Given the description of an element on the screen output the (x, y) to click on. 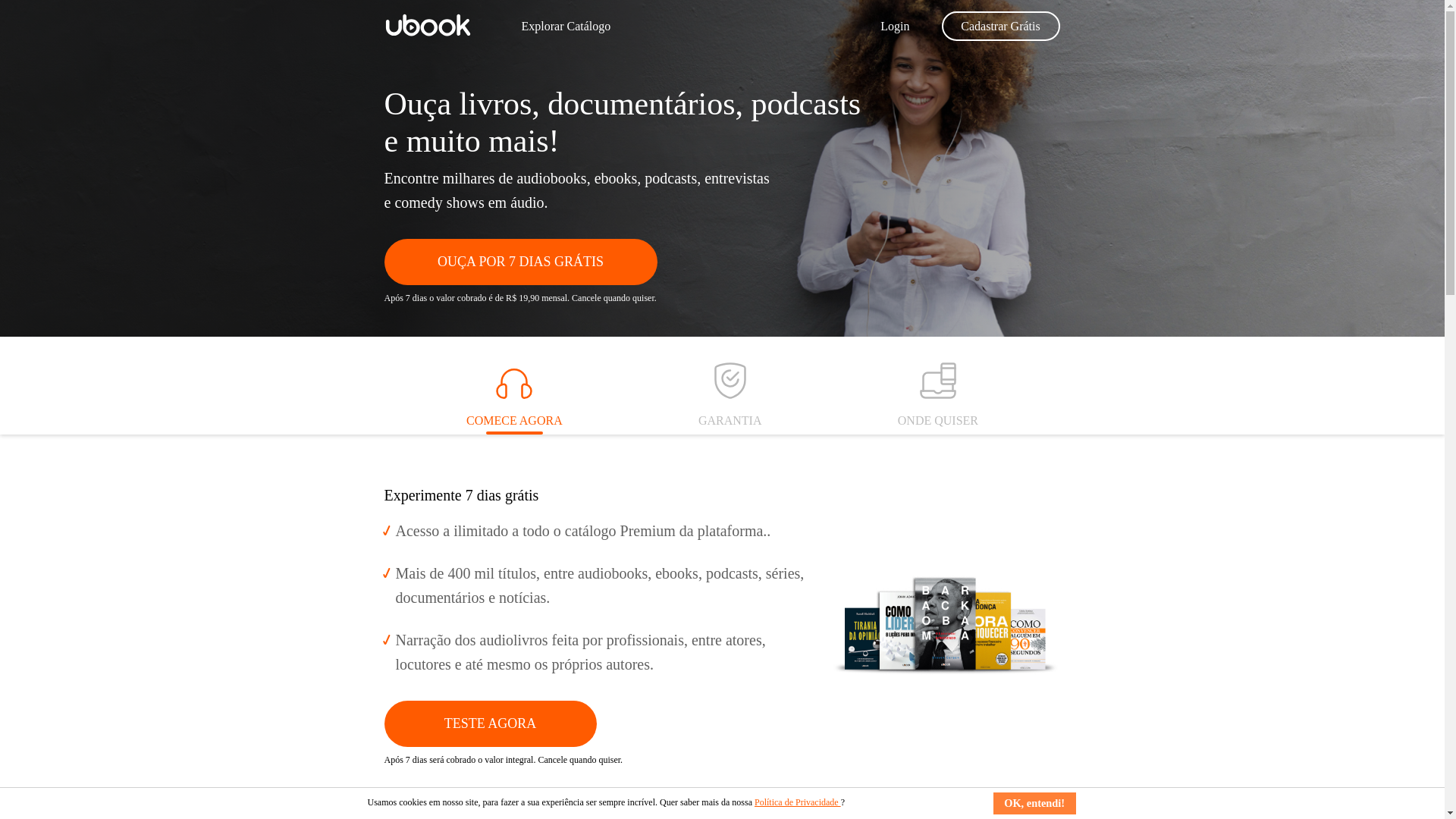
OK, entendi! (1034, 802)
ONDE QUISER (938, 395)
GARANTIA (729, 395)
COMECE AGORA (513, 395)
TESTE AGORA (489, 723)
Login (894, 25)
